Given the description of an element on the screen output the (x, y) to click on. 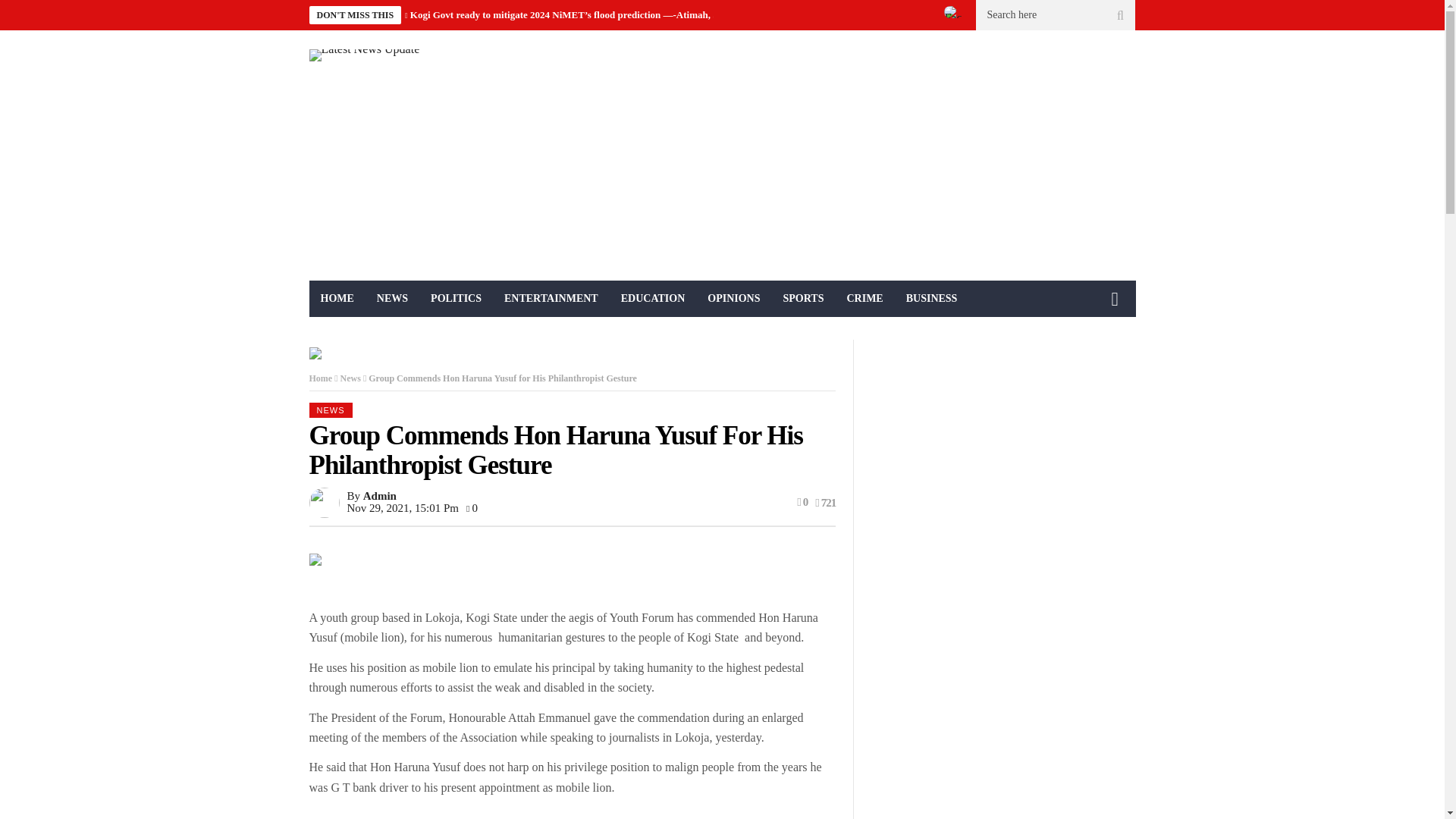
POLITICS (456, 298)
News (350, 378)
Home (320, 378)
NEWS (330, 409)
EDUCATION (653, 298)
ENTERTAINMENT (551, 298)
OPINIONS (733, 298)
HOME (336, 298)
NEWS (392, 298)
Admin (379, 495)
CRIME (863, 298)
BUSINESS (932, 298)
SPORTS (802, 298)
Posts by admin (379, 495)
0 (471, 508)
